Given the description of an element on the screen output the (x, y) to click on. 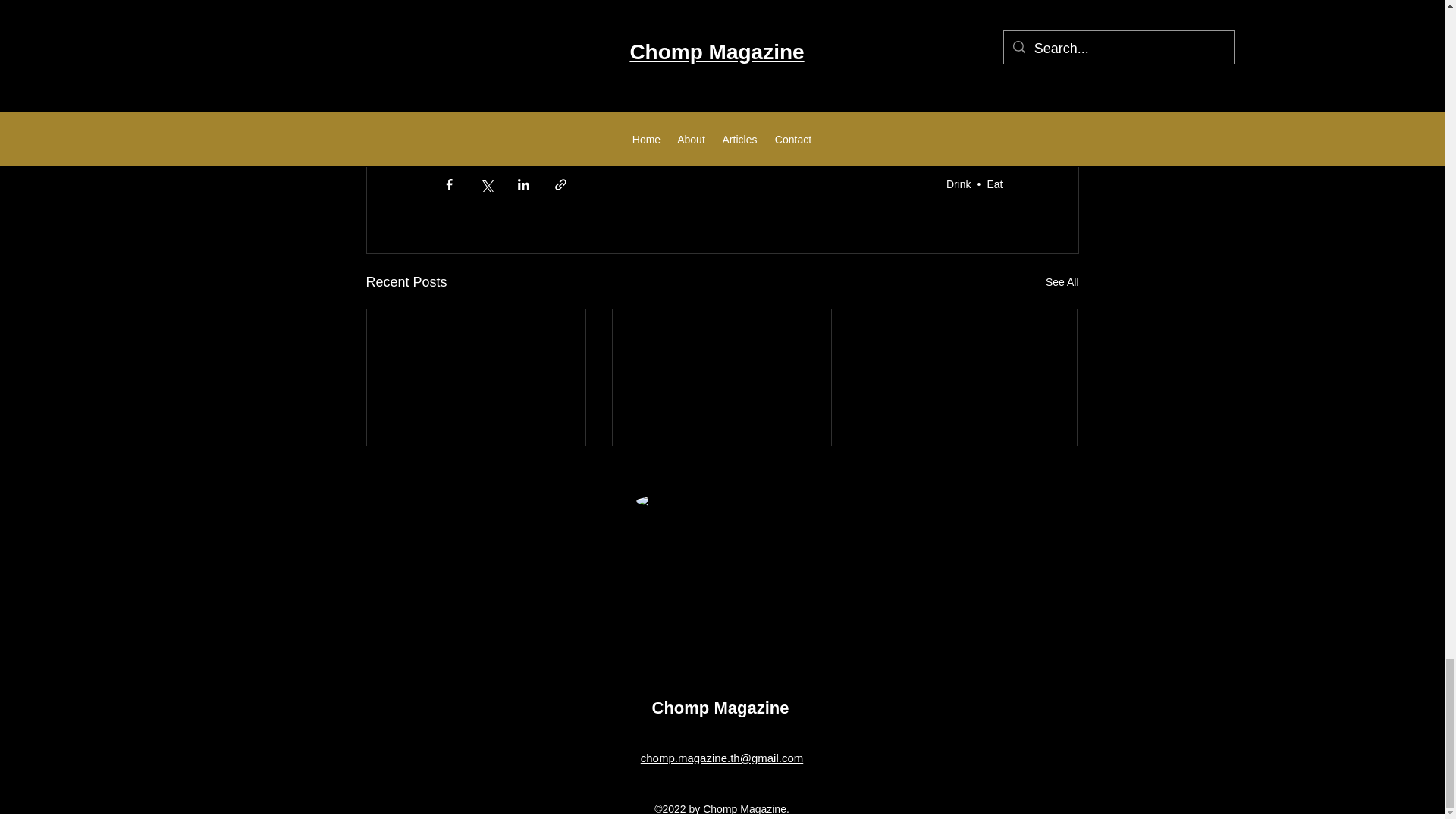
Drink (958, 184)
Eat (995, 184)
See All (1061, 282)
